Given the description of an element on the screen output the (x, y) to click on. 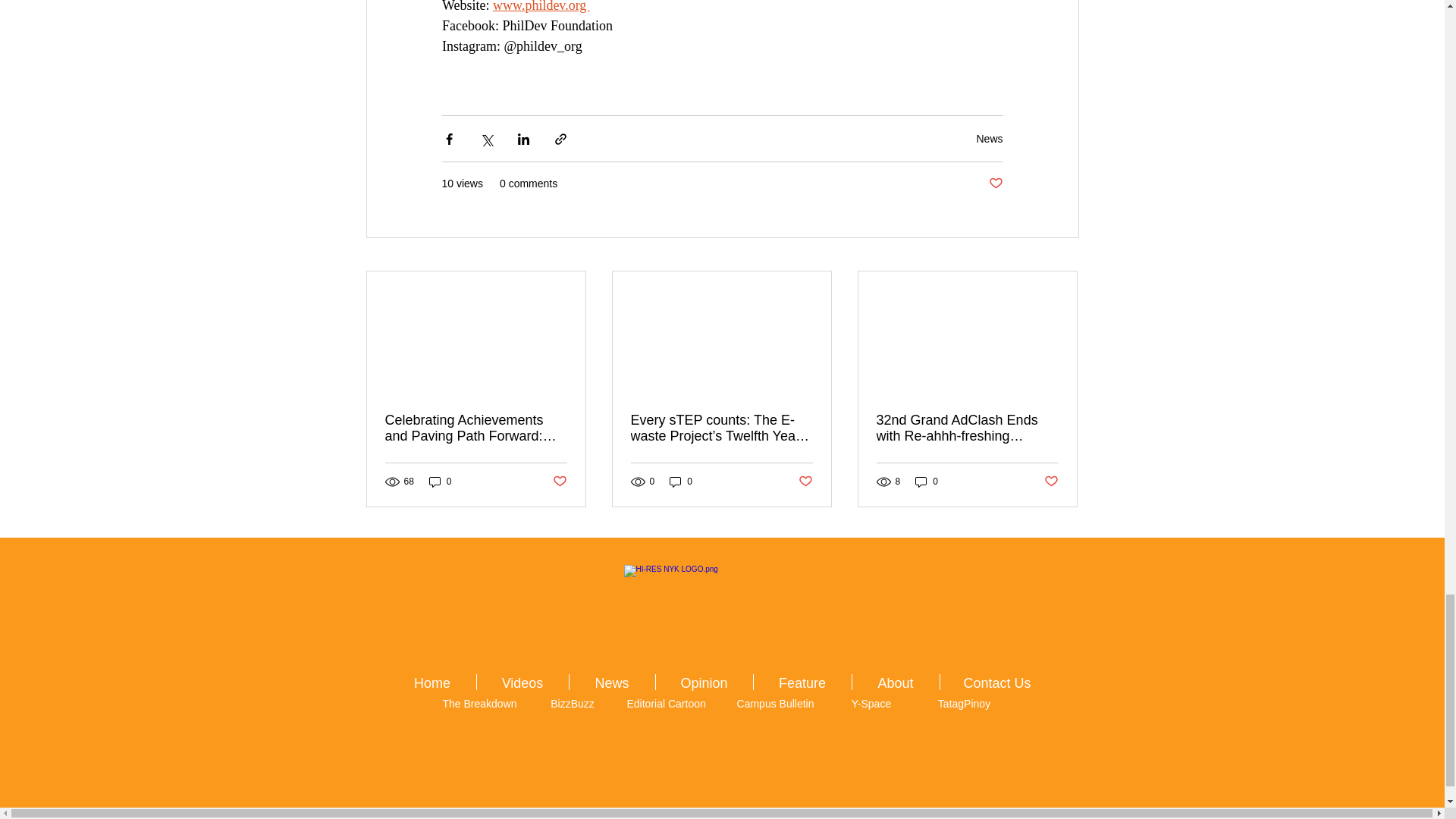
0 (926, 481)
News (989, 138)
Post not marked as liked (1050, 481)
Post not marked as liked (995, 183)
Post not marked as liked (804, 481)
Post not marked as liked (558, 481)
0 (440, 481)
www.phildev.org  (541, 6)
0 (681, 481)
32nd Grand AdClash Ends with Re-ahhh-freshing Success (967, 428)
